Given the description of an element on the screen output the (x, y) to click on. 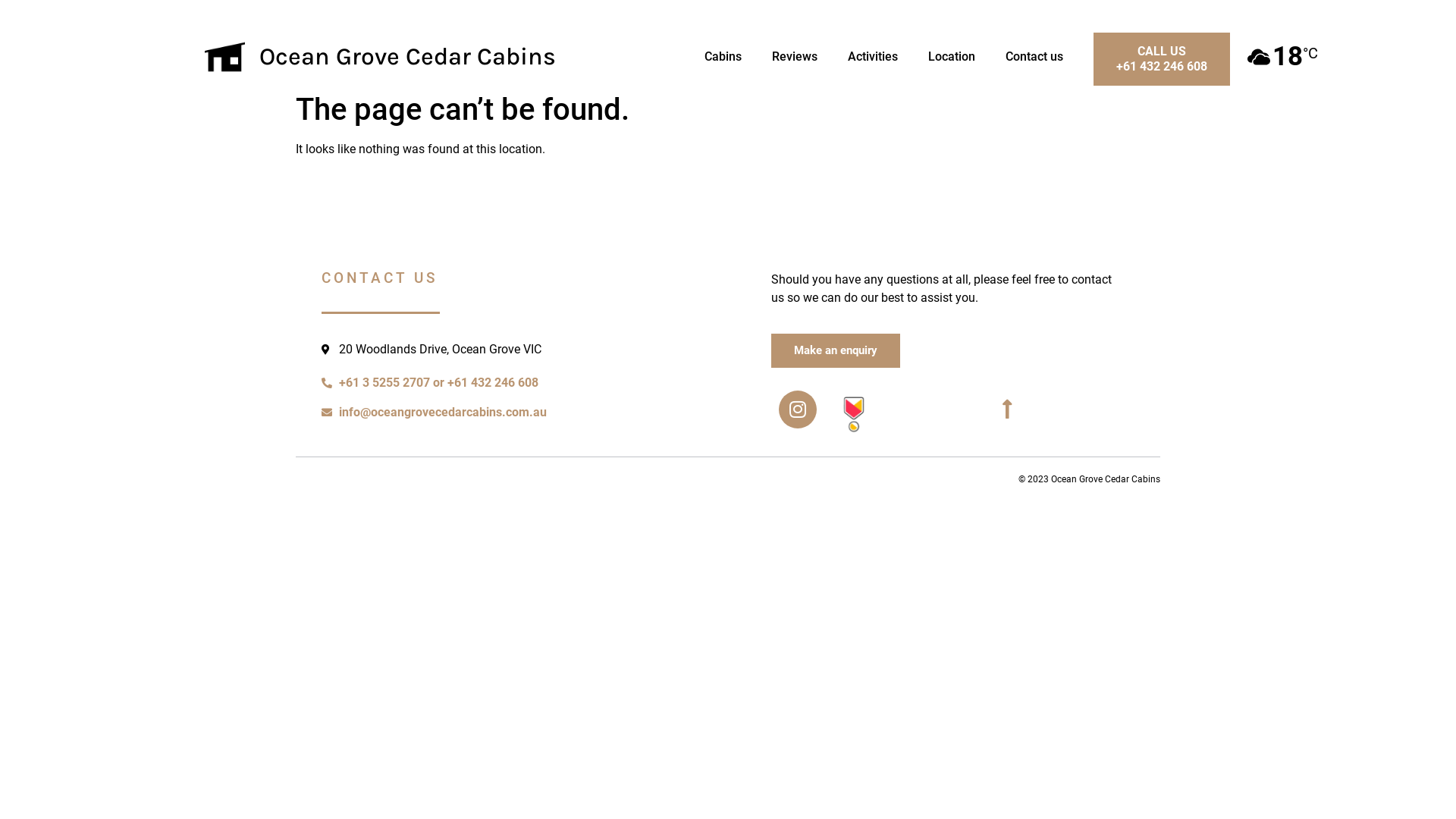
Location Element type: text (951, 56)
Cabins Element type: text (722, 56)
Reviews Element type: text (794, 56)
Ocean Grove Cedar Cabins Element type: text (407, 56)
Contact us Element type: text (1034, 56)
+61 3 5255 2707 or +61 432 246 608 Element type: text (524, 382)
Make an enquiry Element type: text (835, 350)
CALL US
+61 432 246 608 Element type: text (1161, 58)
overcast clouds Element type: hover (1258, 56)
info@oceangrovecedarcabins.com.au Element type: text (524, 412)
Activities Element type: text (872, 56)
